Given the description of an element on the screen output the (x, y) to click on. 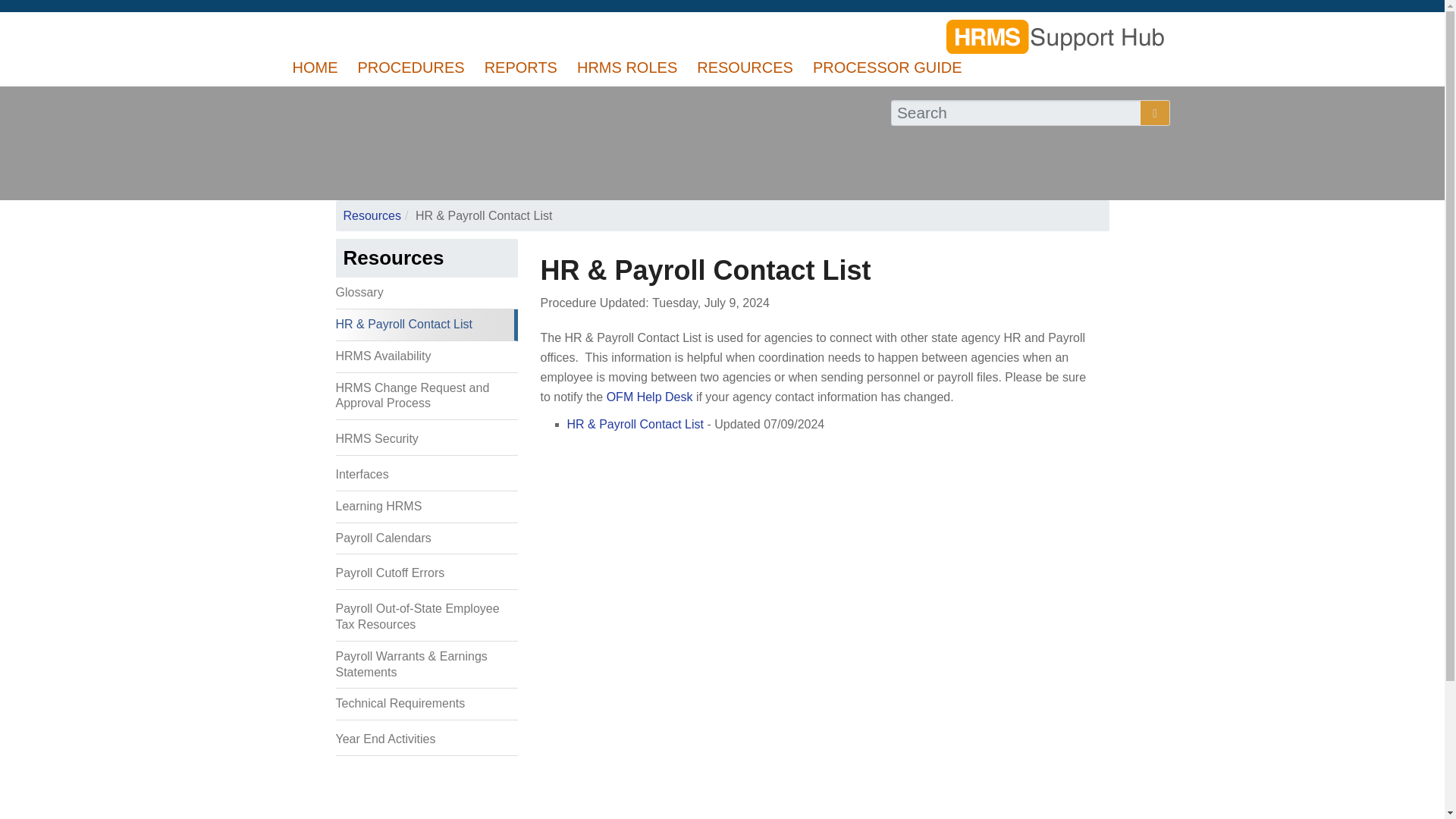
HRMS Change Request and Approval Process (425, 396)
HRMS Support Hub (1056, 38)
REPORTS (521, 66)
HOME (314, 66)
Search (307, 129)
PROCESSOR GUIDE (887, 66)
Payroll Calendars (425, 539)
PROCEDURES (411, 66)
Glossary (425, 293)
